Given the description of an element on the screen output the (x, y) to click on. 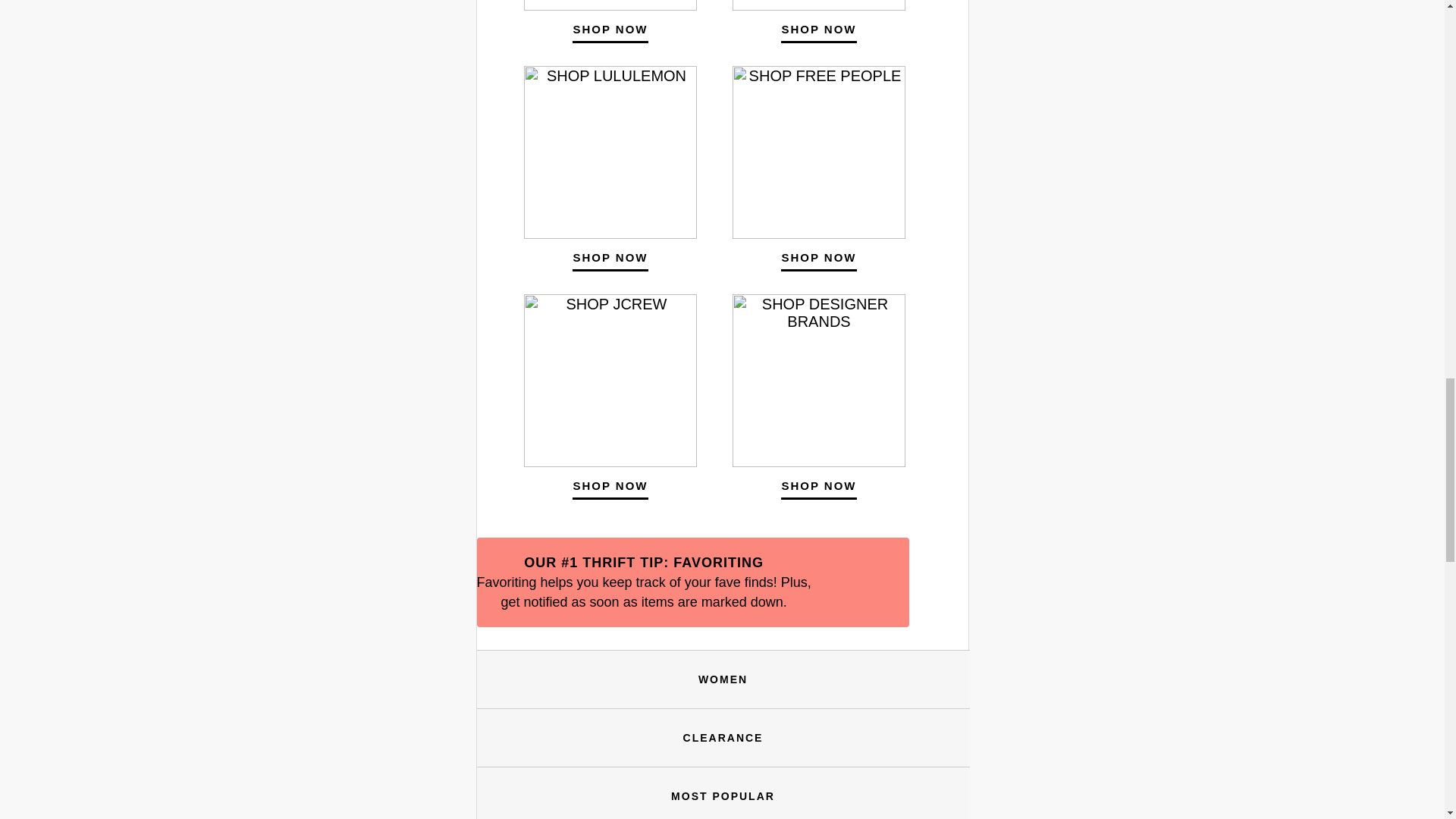
SHOP NOW (609, 30)
SHOP NOW (818, 30)
SHOP NOW (818, 258)
Visit thredUP (722, 737)
SHOP NOW (609, 487)
Find Girl's Clothing on thredUP (722, 796)
SHOP NOW (818, 487)
MOST POPULAR (722, 796)
CLEARANCE (722, 737)
